Given the description of an element on the screen output the (x, y) to click on. 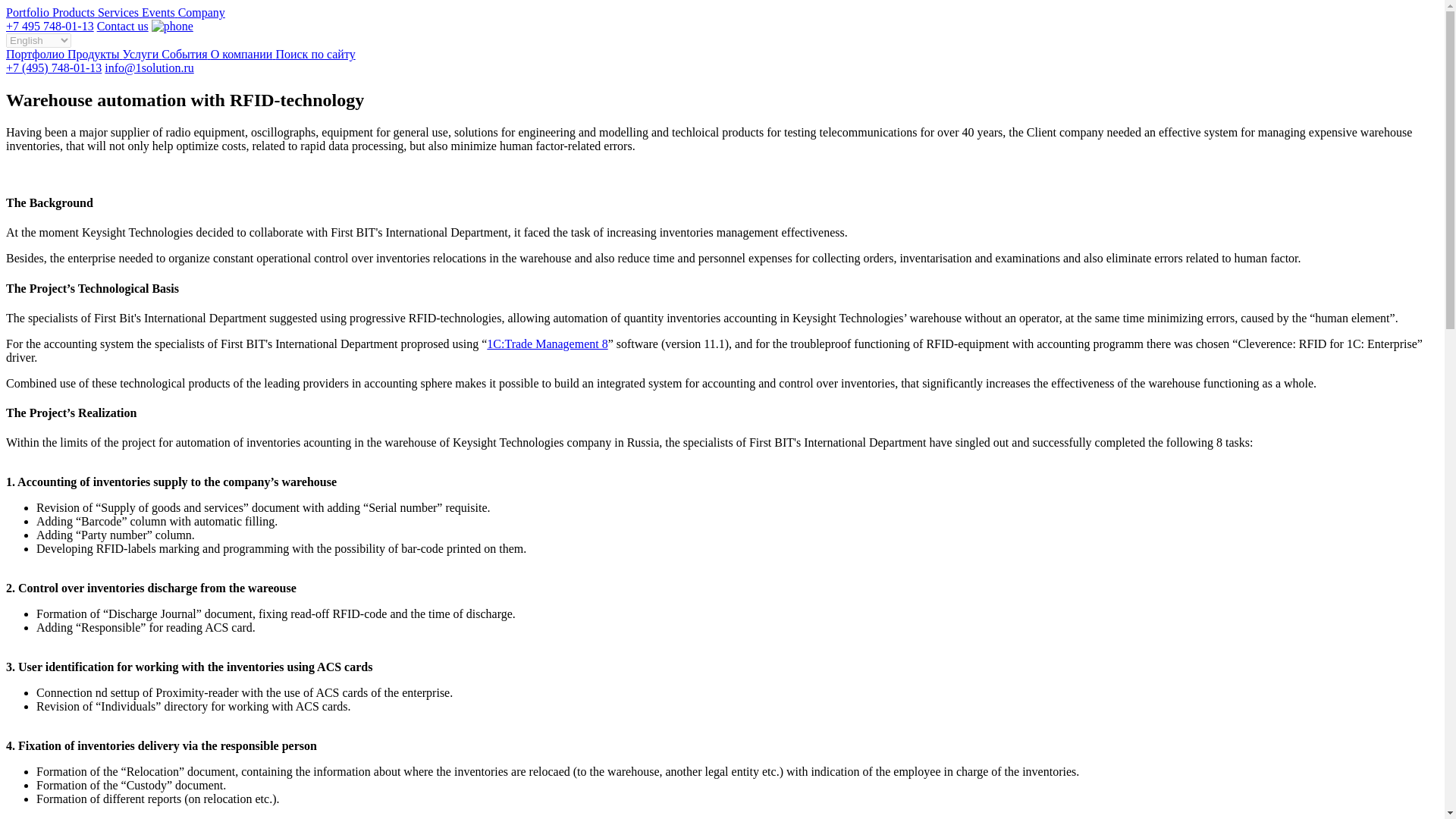
Contact us (122, 25)
Events (159, 11)
Products (74, 11)
Portfolio (28, 11)
1C:Trade Management 8 (546, 343)
Company (201, 11)
Services (119, 11)
